Given the description of an element on the screen output the (x, y) to click on. 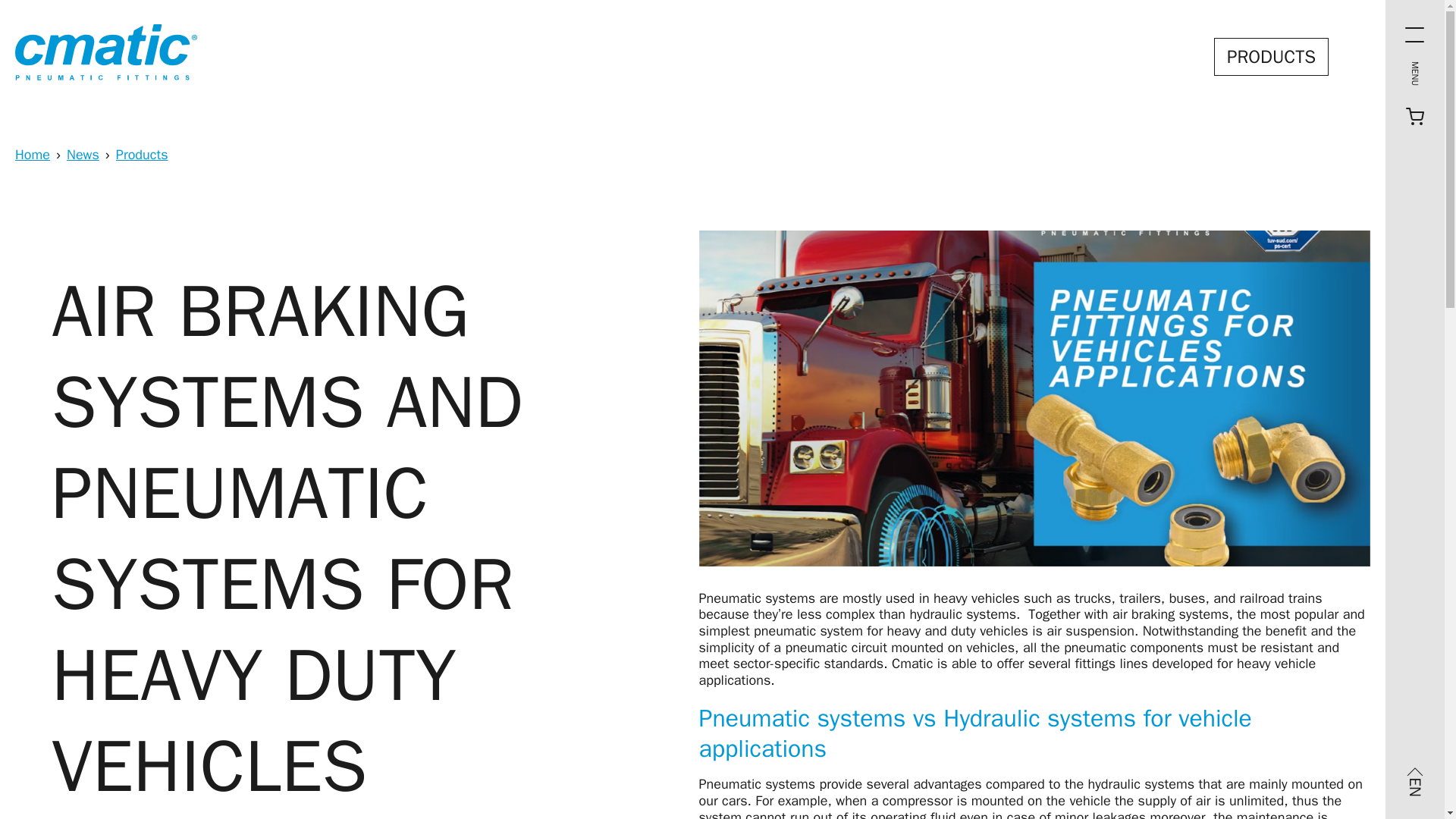
PRODUCTS (1270, 56)
